Given the description of an element on the screen output the (x, y) to click on. 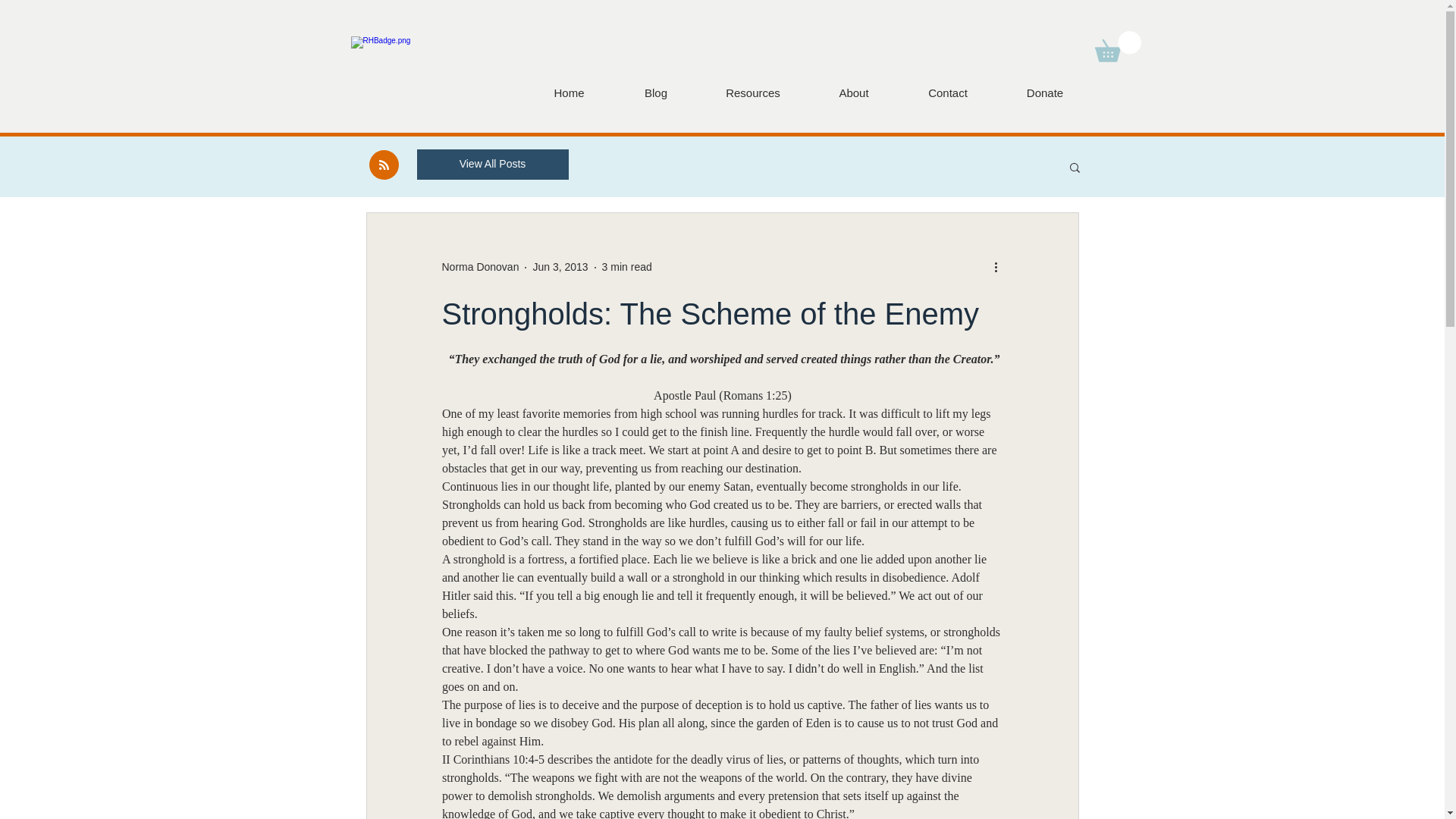
3 min read (627, 266)
Blog (655, 92)
Contact (948, 92)
Jun 3, 2013 (560, 266)
Home (568, 92)
Donate (1044, 92)
About (853, 92)
Norma Donovan (479, 267)
Norma Donovan (479, 267)
